Given the description of an element on the screen output the (x, y) to click on. 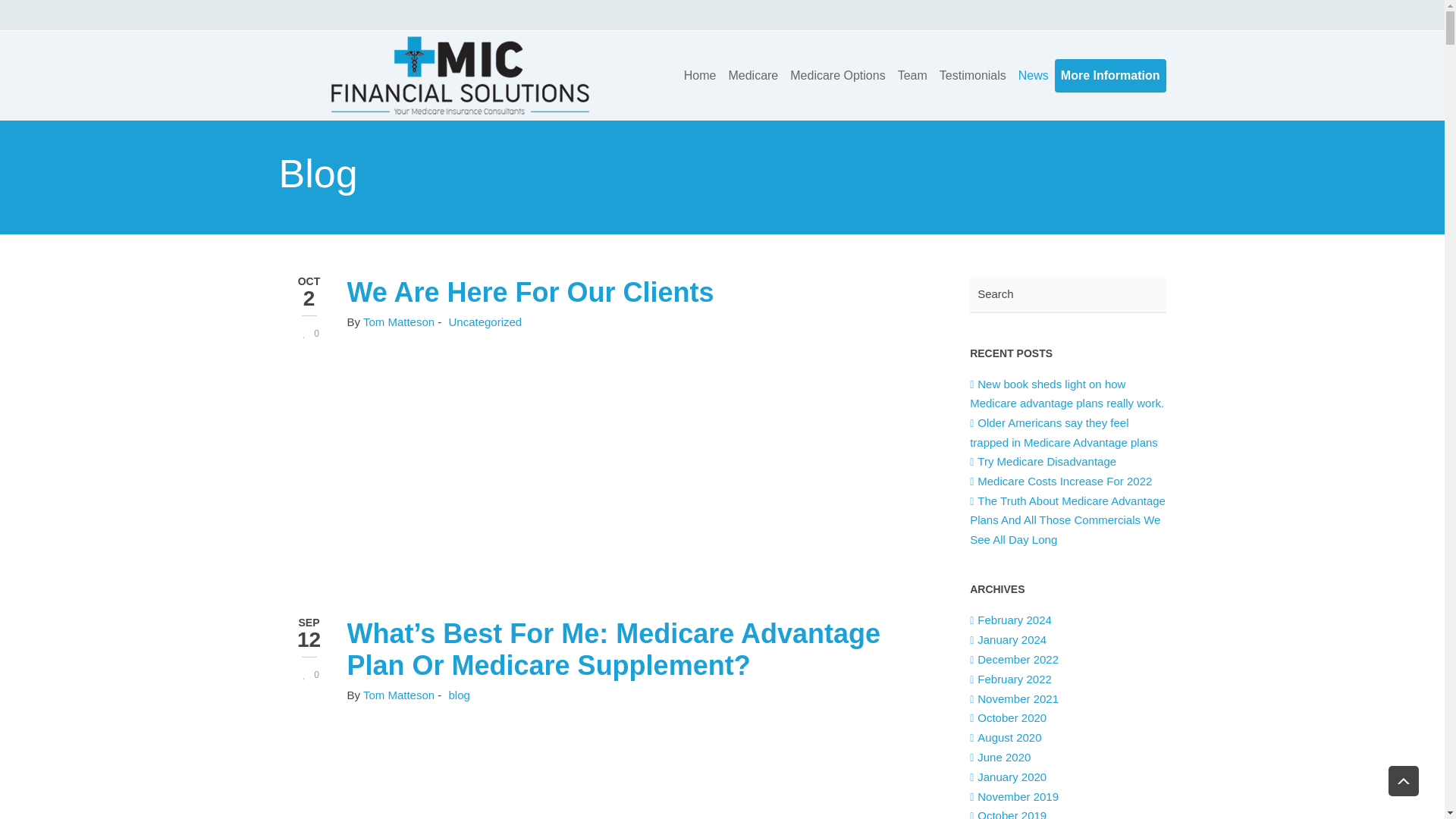
0 (308, 333)
Home (700, 74)
Uncategorized (484, 321)
Posts by Tom Matteson (397, 694)
Tom Matteson (397, 694)
Team (912, 74)
Medicare (753, 74)
More Information (1110, 74)
Search (1067, 294)
News (1032, 74)
